Given the description of an element on the screen output the (x, y) to click on. 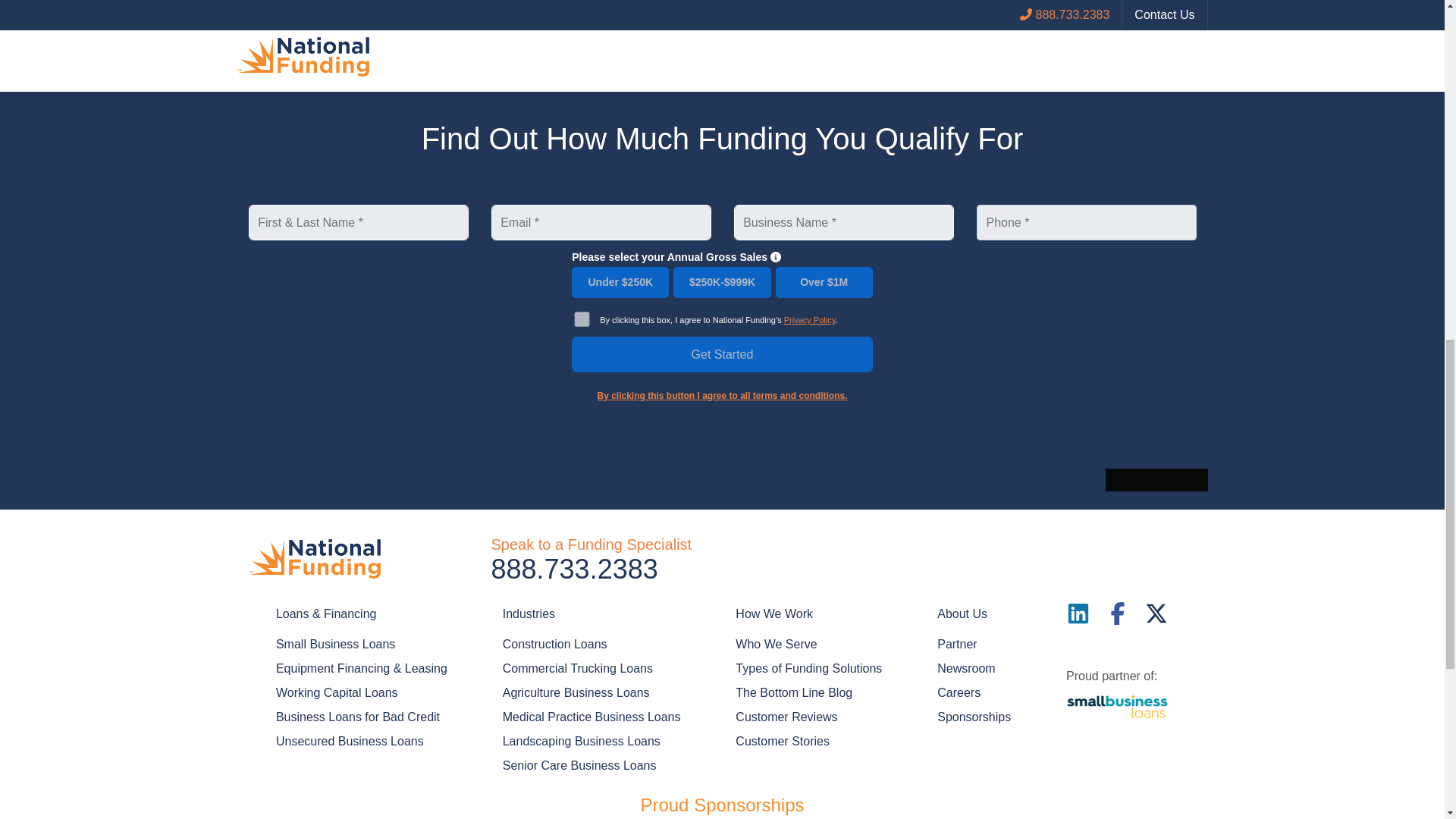
About Us (973, 613)
Business Loans for Bad Credit (357, 716)
Privacy Policy (809, 319)
Agriculture Business Loans (575, 692)
Medical Practice Business Loans (591, 716)
Careers (958, 692)
Commercial Trucking Loans (577, 668)
Sponsorships (973, 716)
Senior Care Business Loans (579, 765)
Unsecured Business Loans (349, 740)
